Given the description of an element on the screen output the (x, y) to click on. 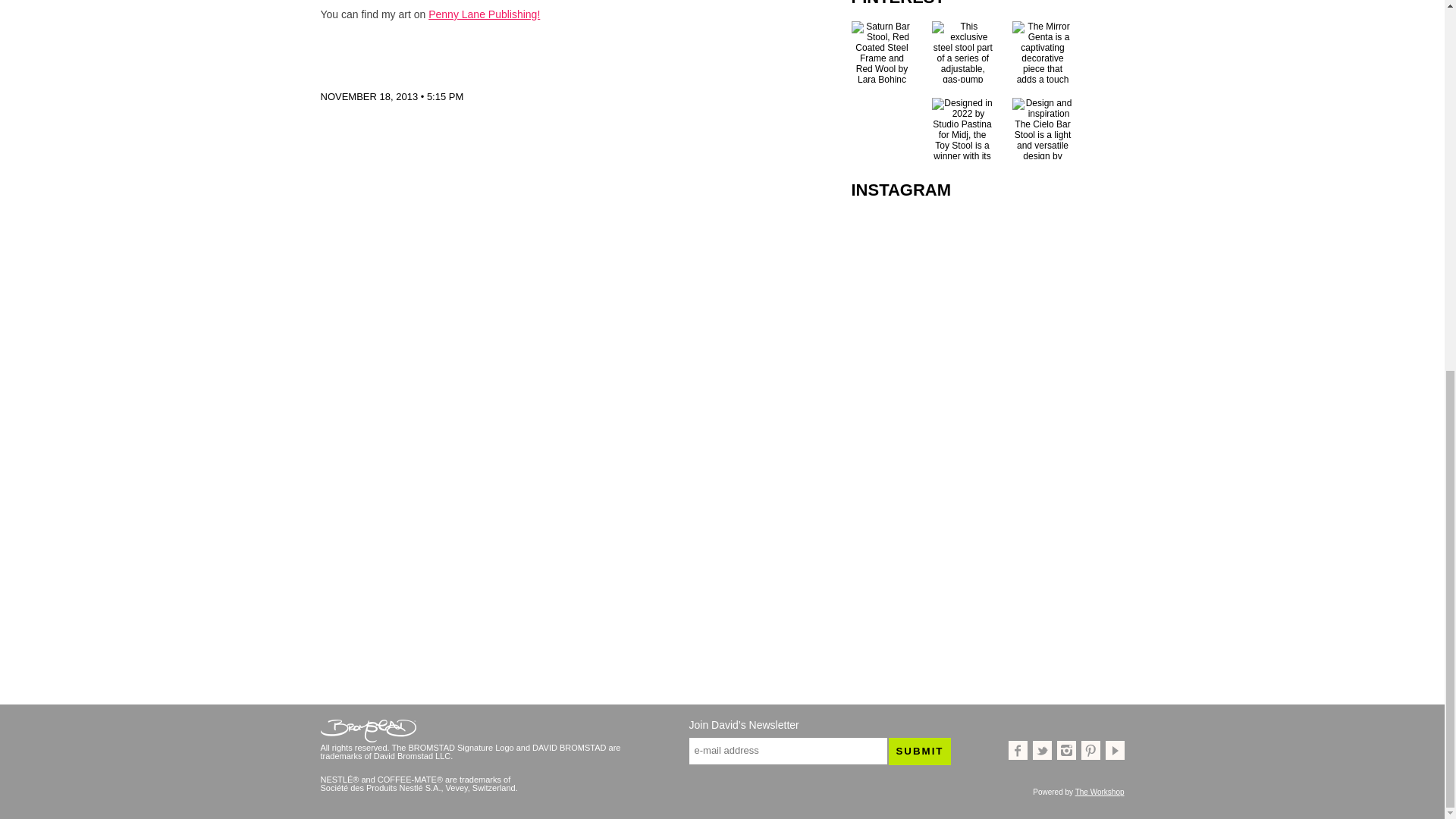
Penny Lane Publishing (484, 14)
Penny Lane Publishing! (484, 14)
 - Pinned on Jul 23, 2024 (881, 102)
Submit (919, 750)
Follow David Bromstad on Twitter (1041, 750)
Like David Bromstad on Facebook (1018, 750)
Follow David Bromstad on Instagram (1066, 750)
